Given the description of an element on the screen output the (x, y) to click on. 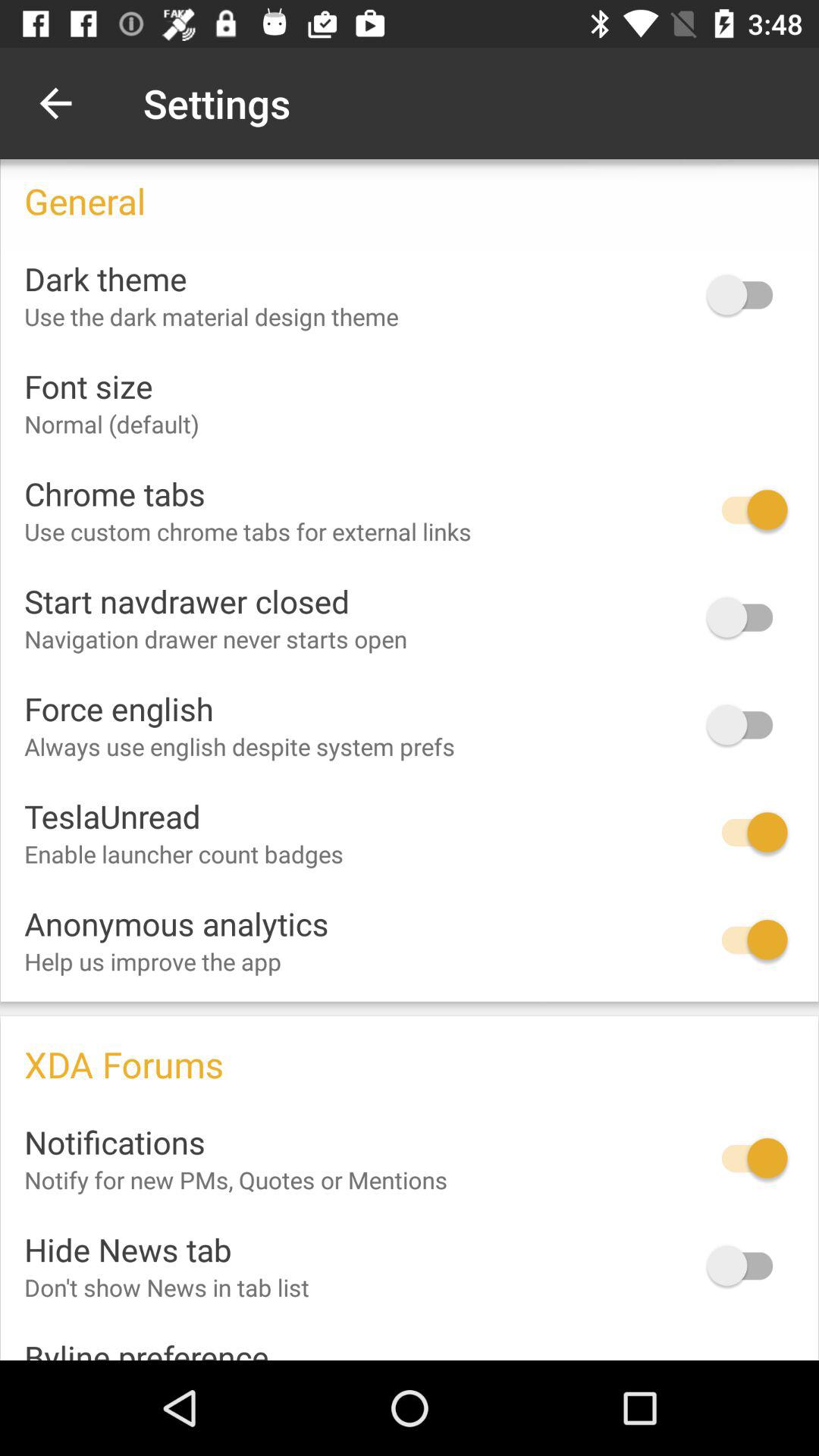
toggle option (747, 832)
